Given the description of an element on the screen output the (x, y) to click on. 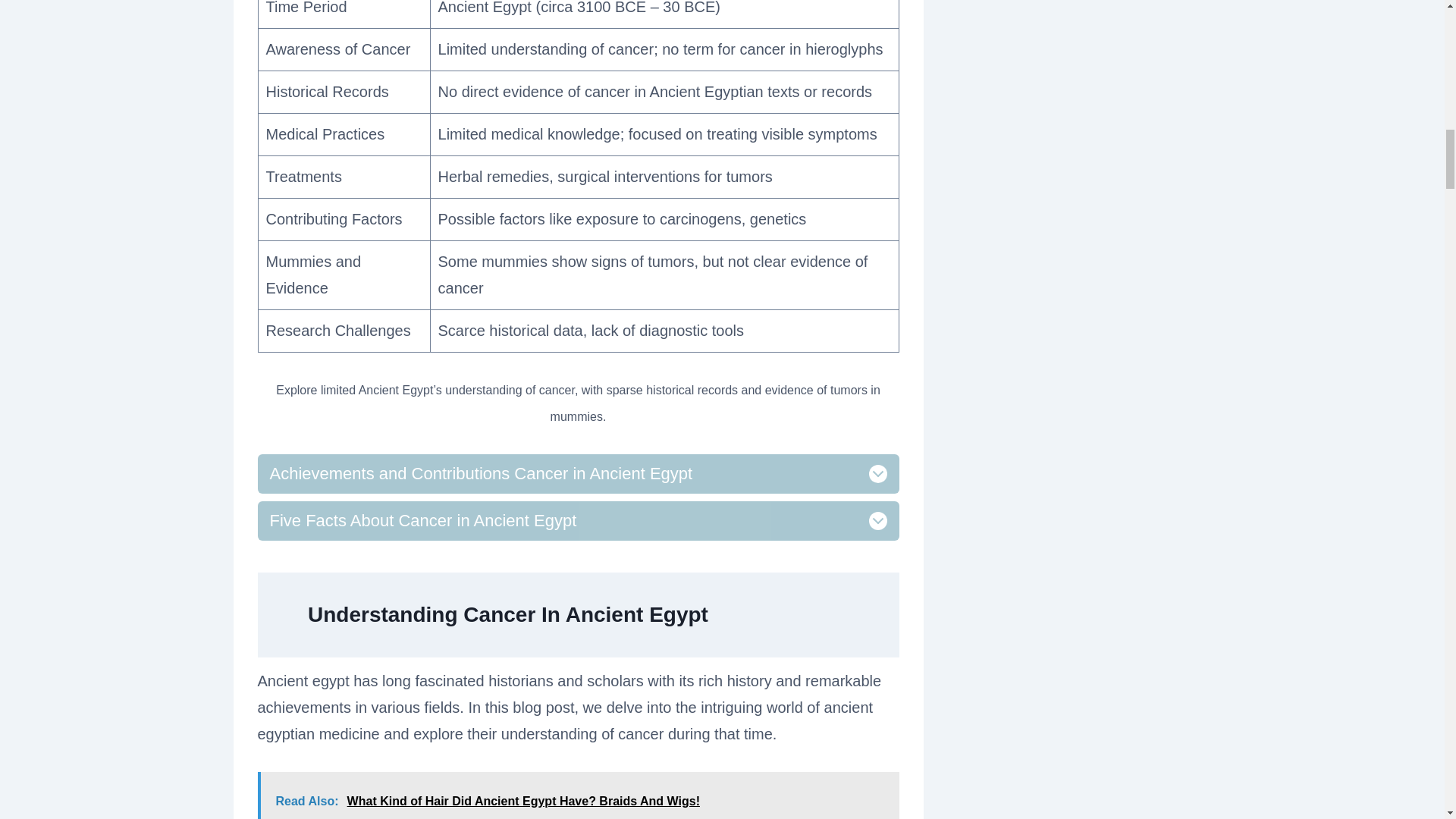
Five Facts About Cancer in Ancient Egypt (578, 520)
Achievements and Contributions Cancer in Ancient Egypt (578, 473)
